Given the description of an element on the screen output the (x, y) to click on. 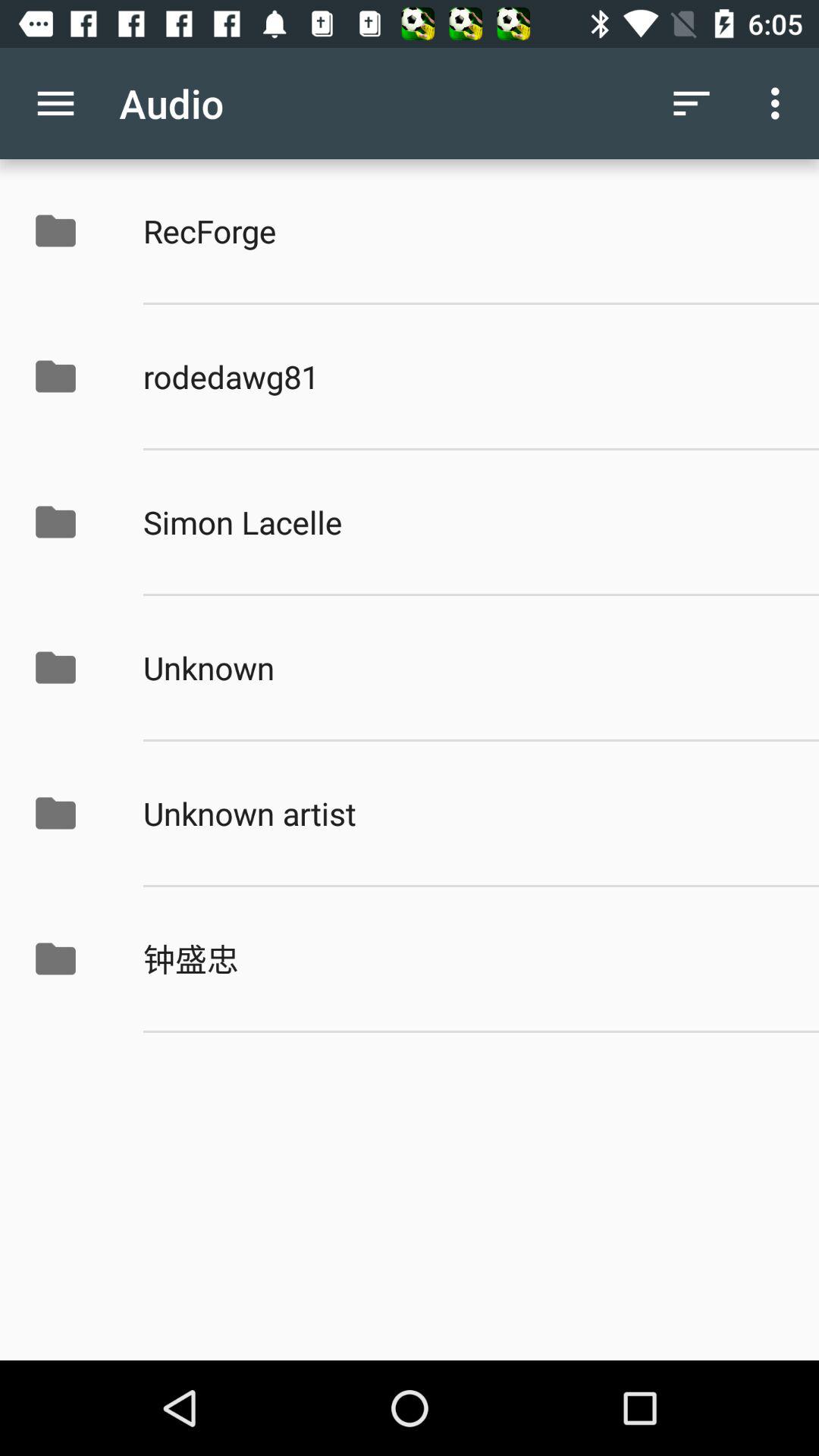
turn off the icon above the recforge icon (691, 103)
